Given the description of an element on the screen output the (x, y) to click on. 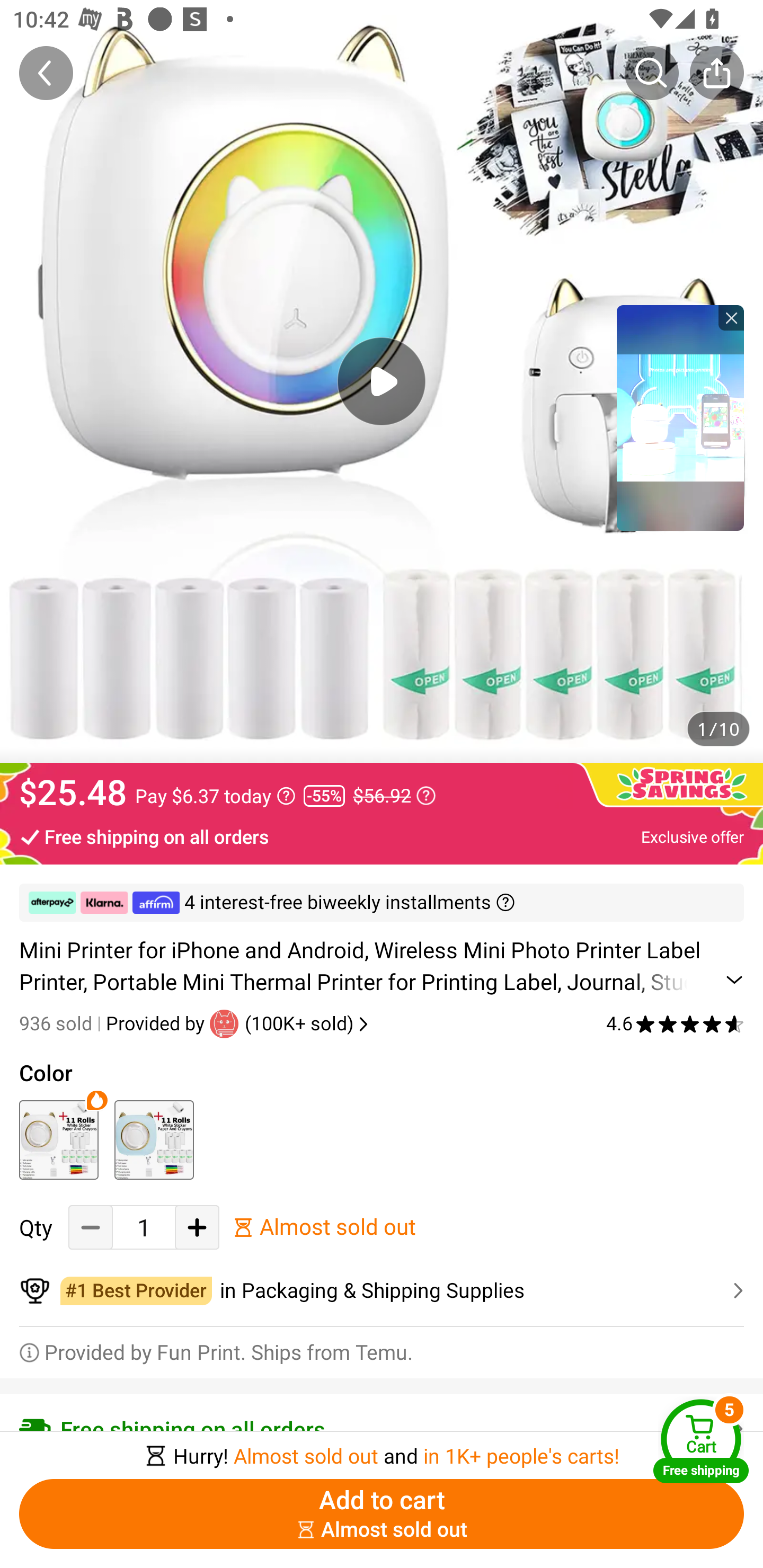
Back (46, 72)
Share (716, 72)
tronplayer_view (680, 417)
Pay $6.37 today   (215, 795)
Free shipping on all orders Exclusive offer (381, 836)
￼ ￼ ￼ 4 interest-free biweekly installments ￼ (381, 902)
936 sold Provided by  (114, 1023)
4.6 (674, 1023)
Mini Printer-White   (58, 1139)
Mini Printer-Blue (153, 1139)
Decrease Quantity Button (90, 1227)
1 (143, 1227)
Add Quantity button (196, 1227)
￼￼in Packaging & Shipping Supplies (381, 1290)
Cart Free shipping Cart (701, 1440)
Add to cart ￼￼Almost sold out (381, 1513)
